Given the description of an element on the screen output the (x, y) to click on. 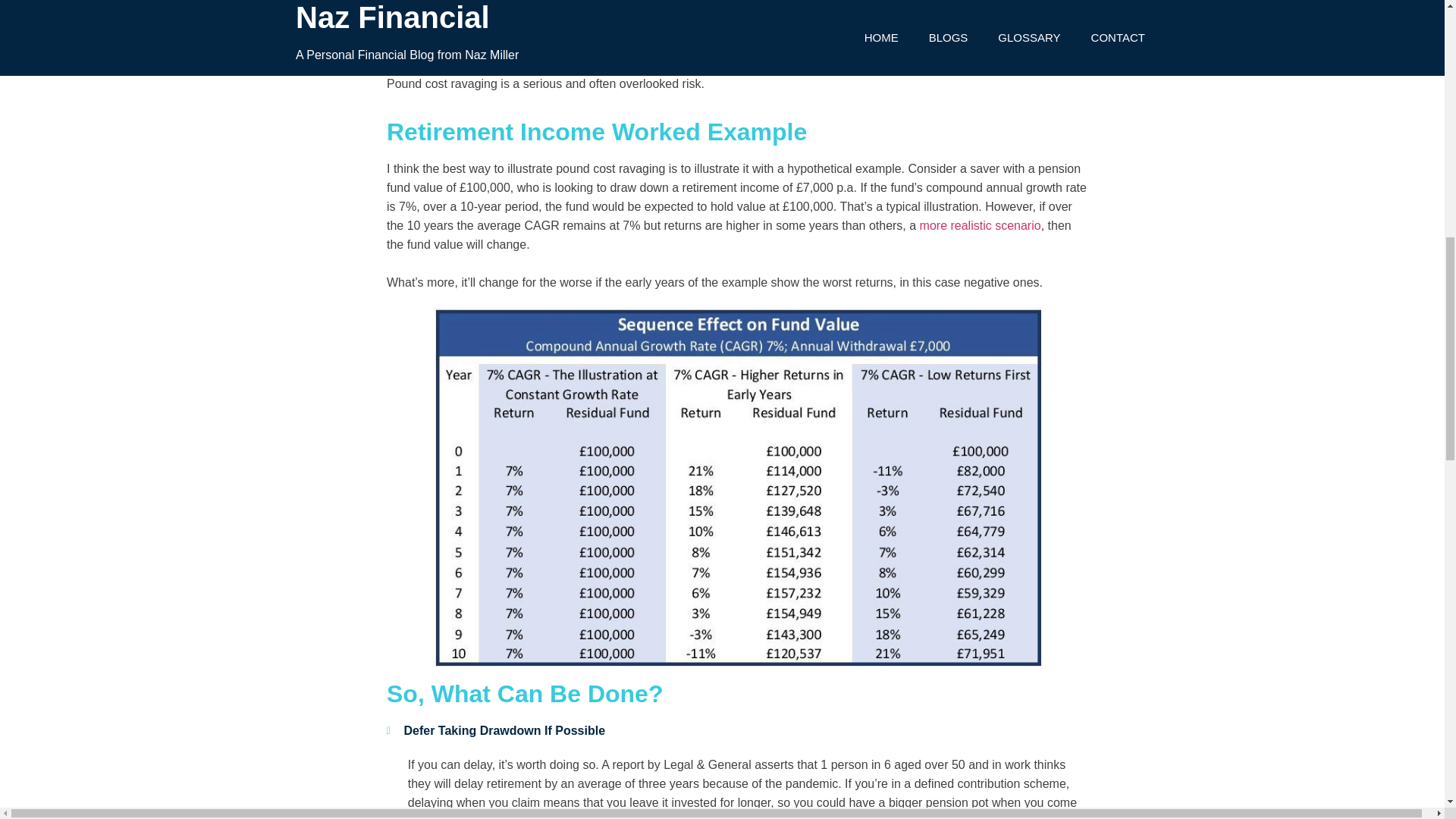
more realistic scenario (980, 225)
